Given the description of an element on the screen output the (x, y) to click on. 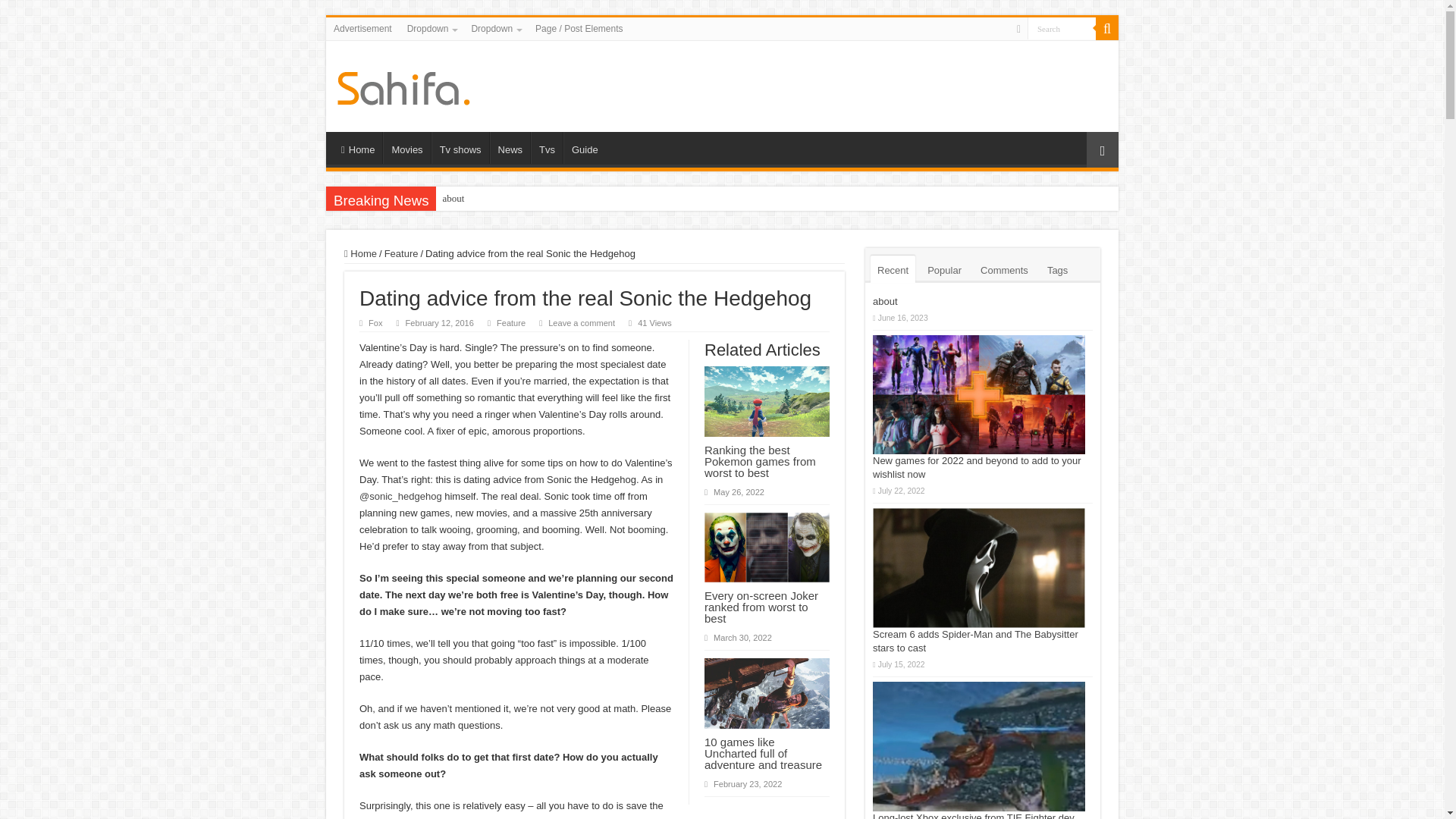
Advertisement (362, 28)
Search (1107, 28)
Home (357, 147)
Guide (584, 147)
Movies (405, 147)
Tvs (546, 147)
News (510, 147)
Game News (403, 85)
about (452, 198)
Search (1061, 28)
